Given the description of an element on the screen output the (x, y) to click on. 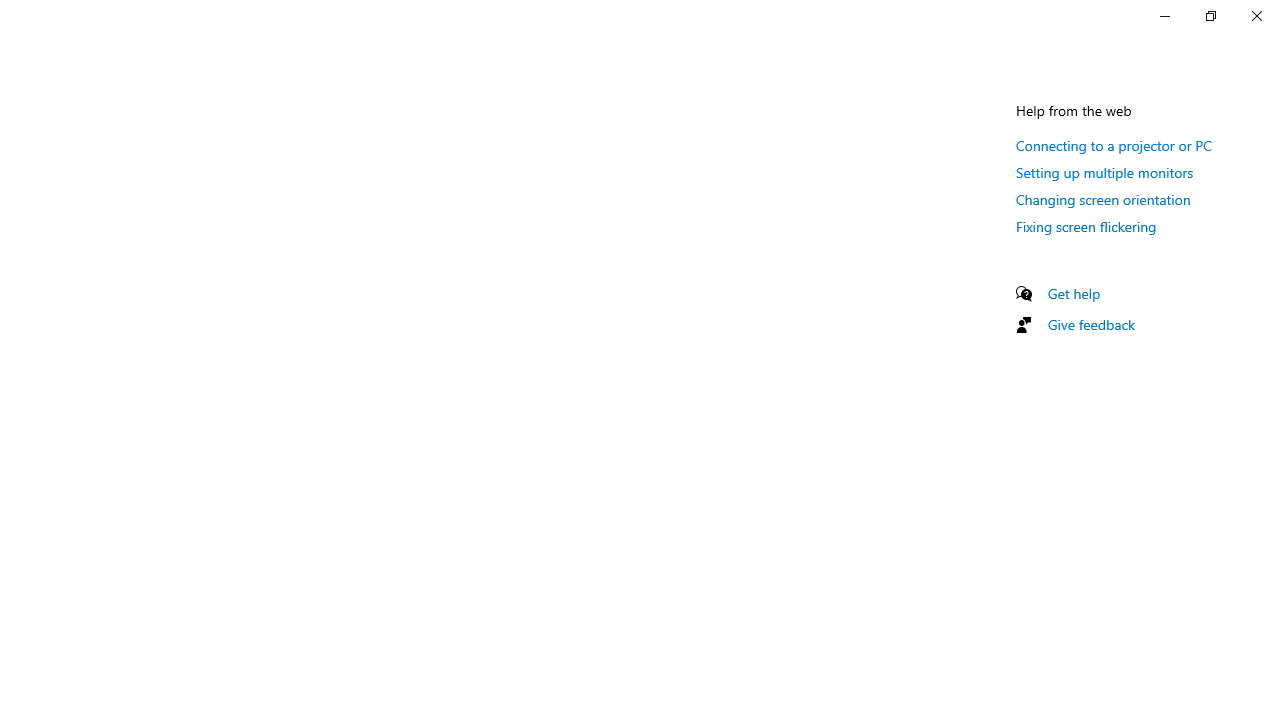
Fixing screen flickering (1086, 226)
Setting up multiple monitors (1105, 172)
Connecting to a projector or PC (1114, 145)
Changing screen orientation (1103, 199)
Give feedback (1091, 324)
